Given the description of an element on the screen output the (x, y) to click on. 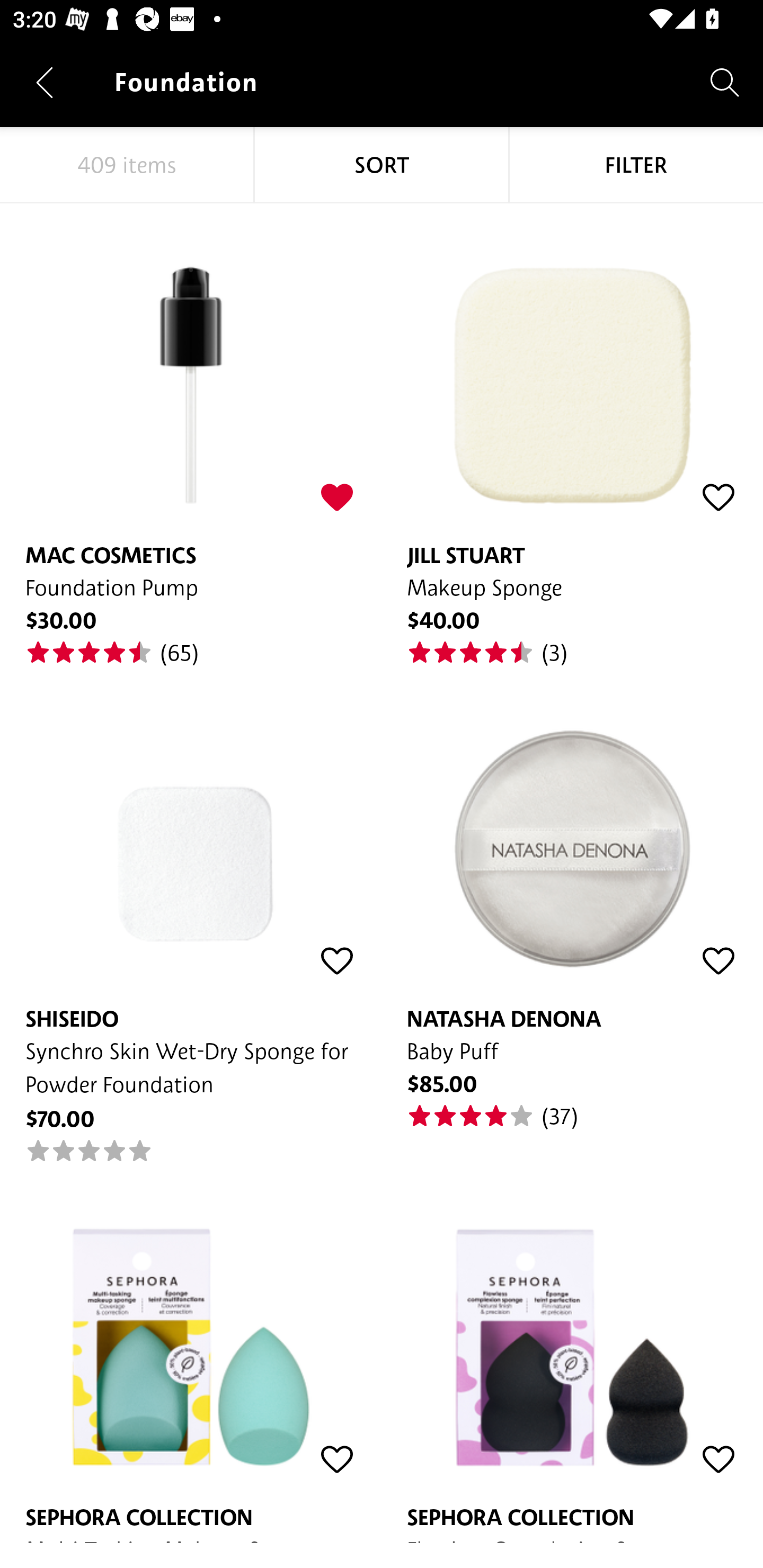
Navigate up (44, 82)
Search (724, 81)
SORT (381, 165)
FILTER (636, 165)
MAC COSMETICS Foundation Pump $30.00 (65) (190, 434)
JILL STUART Makeup Sponge $40.00 (3) (571, 434)
NATASHA DENONA Baby Puff $85.00 (37) (571, 898)
